Given the description of an element on the screen output the (x, y) to click on. 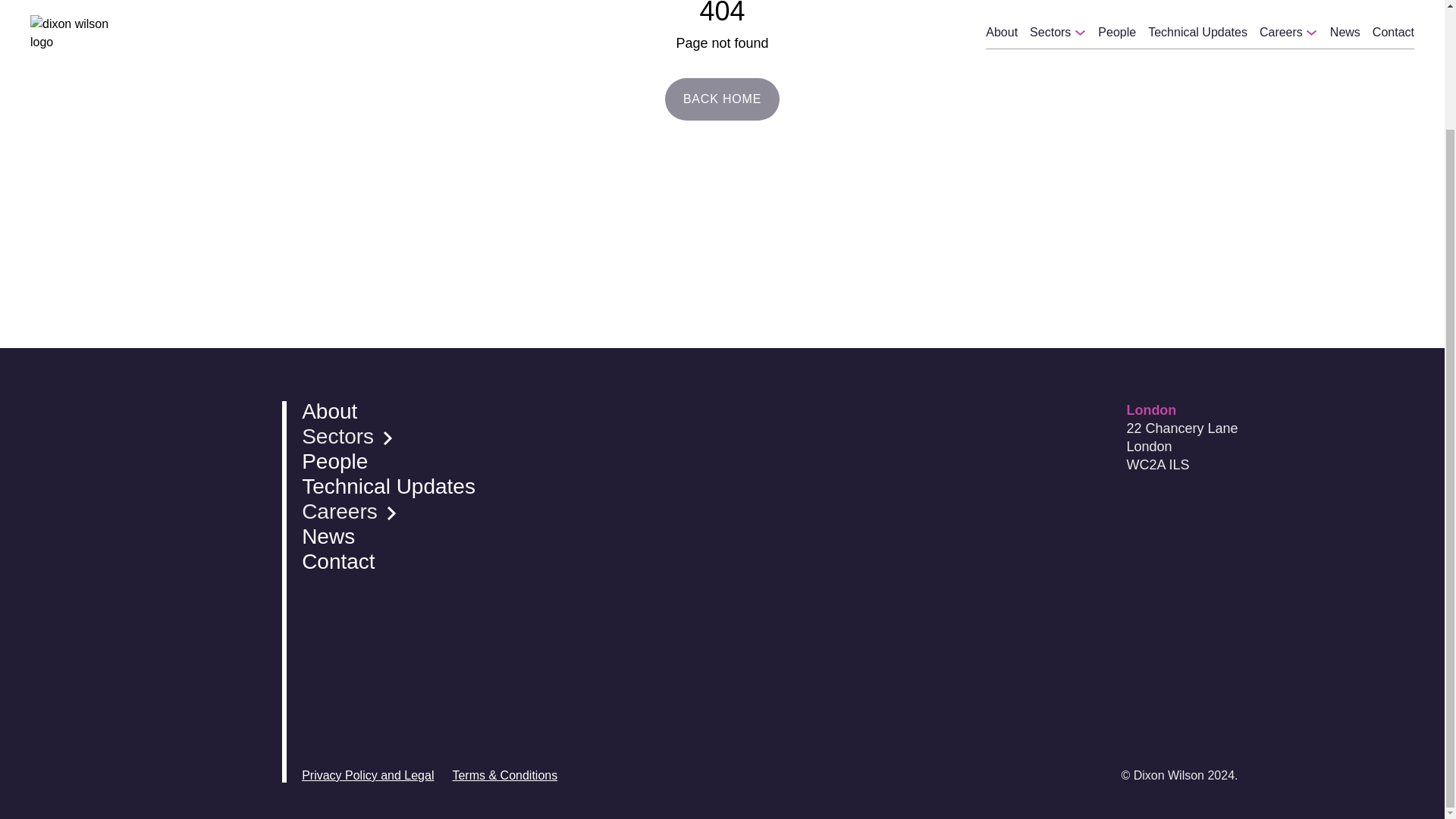
People (388, 461)
About (388, 411)
BACK HOME (721, 98)
Technical Updates (388, 486)
